Given the description of an element on the screen output the (x, y) to click on. 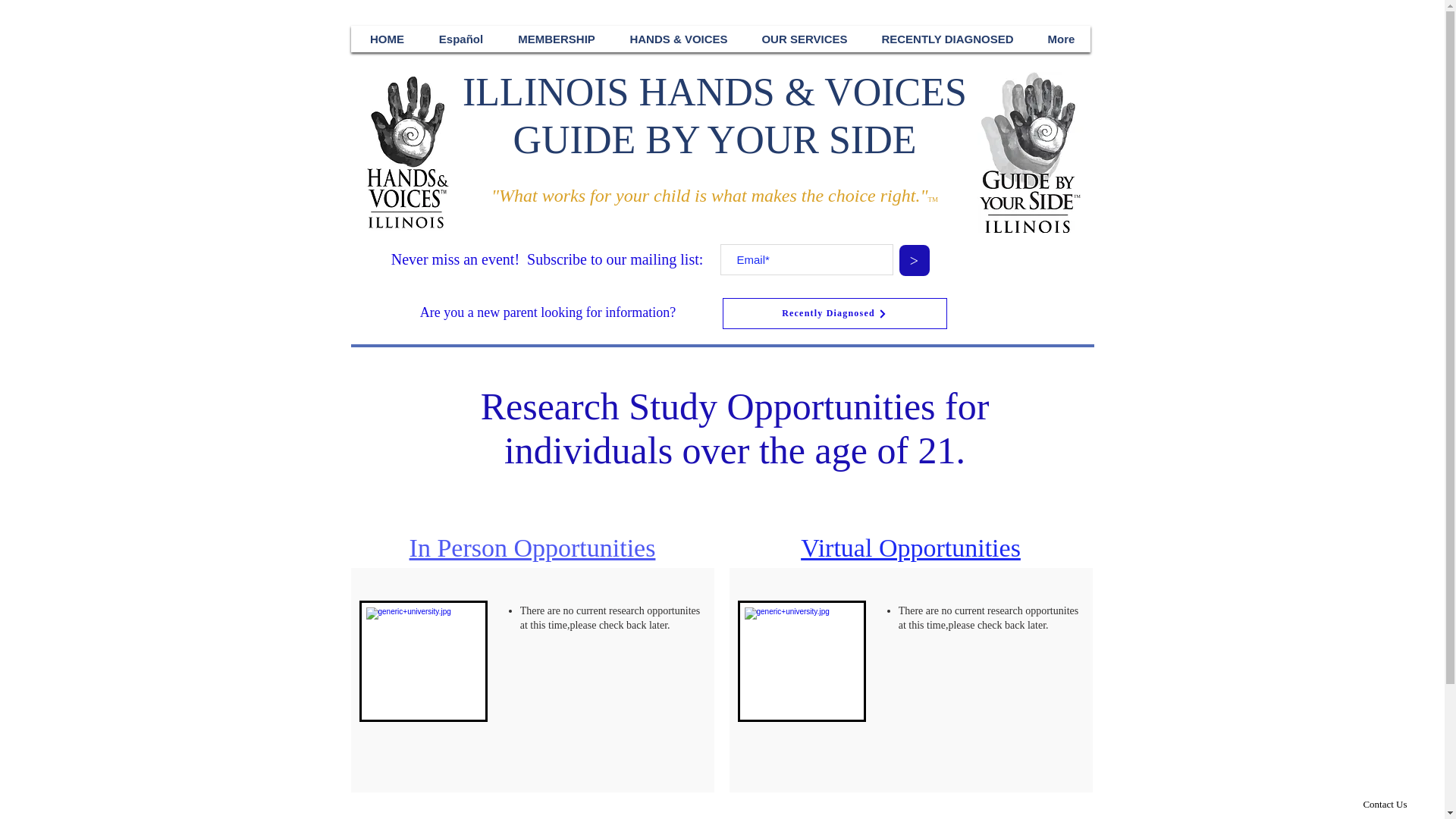
MEMBERSHIP (556, 38)
RECENTLY DIAGNOSED (946, 38)
OUR SERVICES (803, 38)
HOME (387, 38)
